Given the description of an element on the screen output the (x, y) to click on. 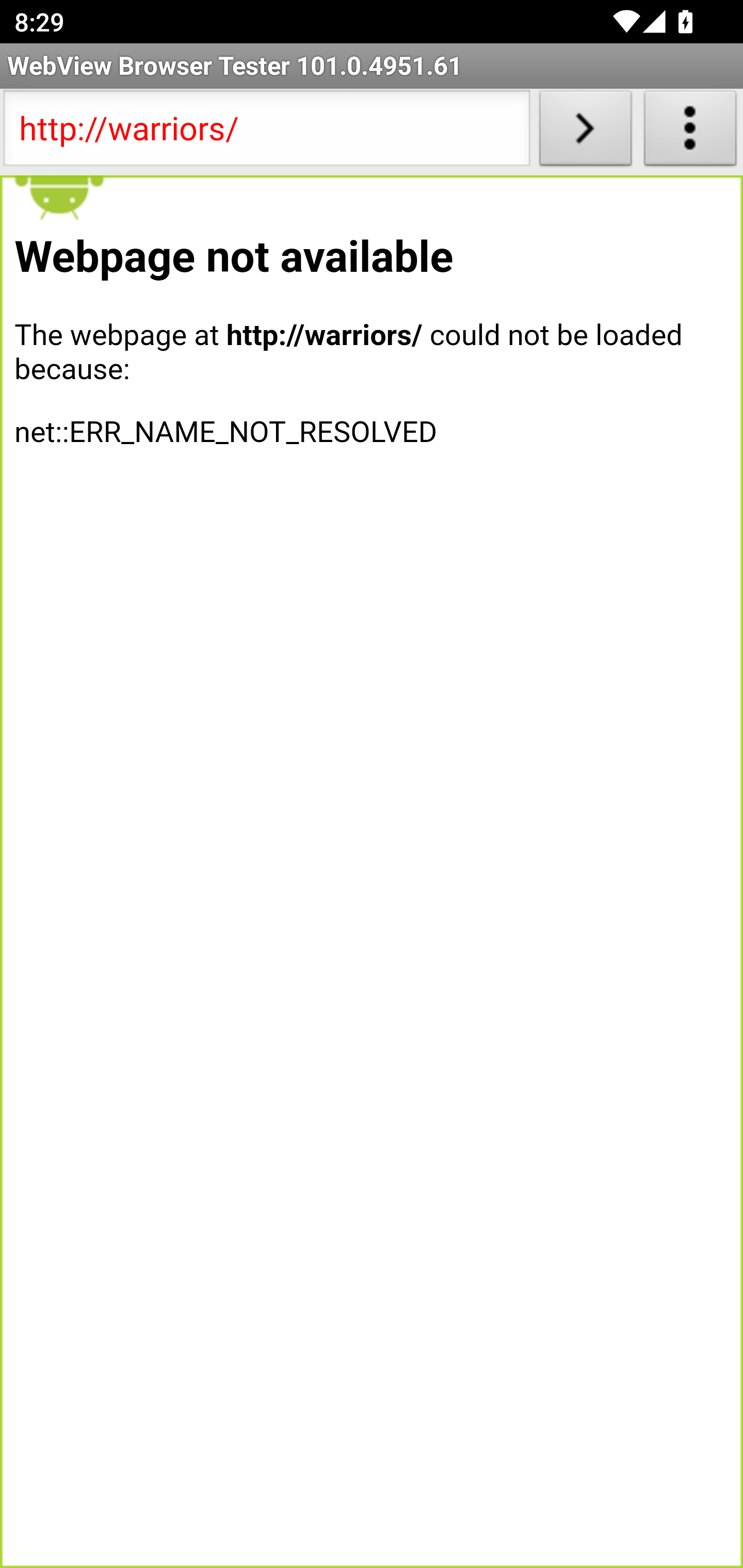
http://warriors/ (266, 132)
Load URL (585, 132)
About WebView (690, 132)
